Given the description of an element on the screen output the (x, y) to click on. 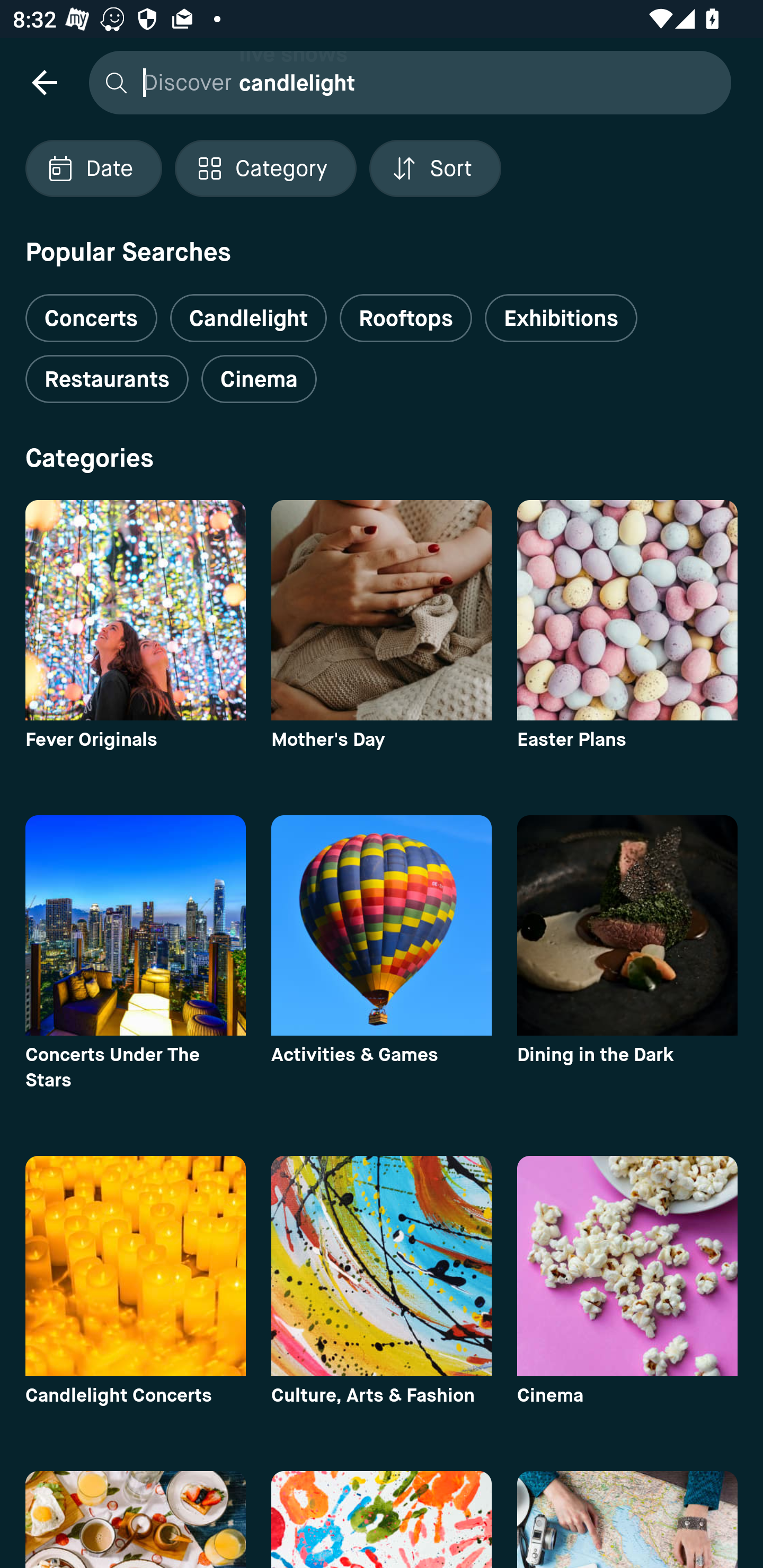
navigation icon (44, 81)
Discover live shows candlelight (405, 81)
Localized description Date (93, 168)
Localized description Category (265, 168)
Localized description Sort (435, 168)
Concerts (91, 310)
Candlelight (248, 317)
Rooftops (405, 317)
Exhibitions (560, 317)
Restaurants (106, 379)
Cinema (258, 379)
category image (135, 609)
category image (381, 609)
category image (627, 609)
category image (135, 924)
category image (381, 924)
category image (627, 924)
category image (135, 1265)
category image (381, 1265)
category image (627, 1265)
